Given the description of an element on the screen output the (x, y) to click on. 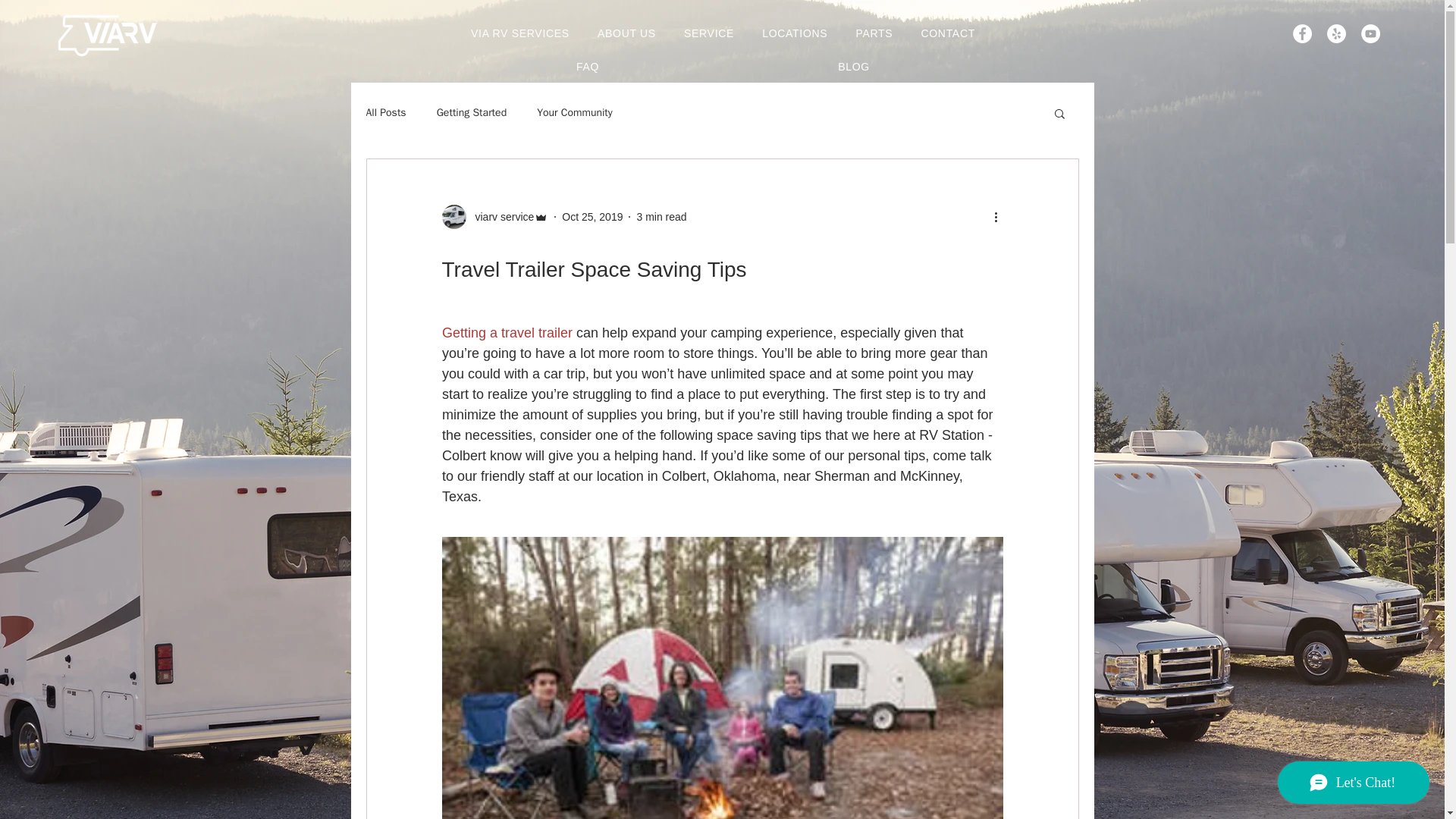
Oct 25, 2019 (592, 216)
3 min read (660, 216)
LOCATIONS (794, 32)
ABOUT US (626, 32)
VIA RV SERVICES (519, 32)
Getting Started (471, 112)
All Posts (385, 112)
SERVICE (708, 32)
FAQ (587, 66)
BLOG (854, 66)
viarv service (499, 217)
Getting a travel trailer (506, 332)
PARTS (874, 32)
CONTACT (948, 32)
viarv service (494, 216)
